Given the description of an element on the screen output the (x, y) to click on. 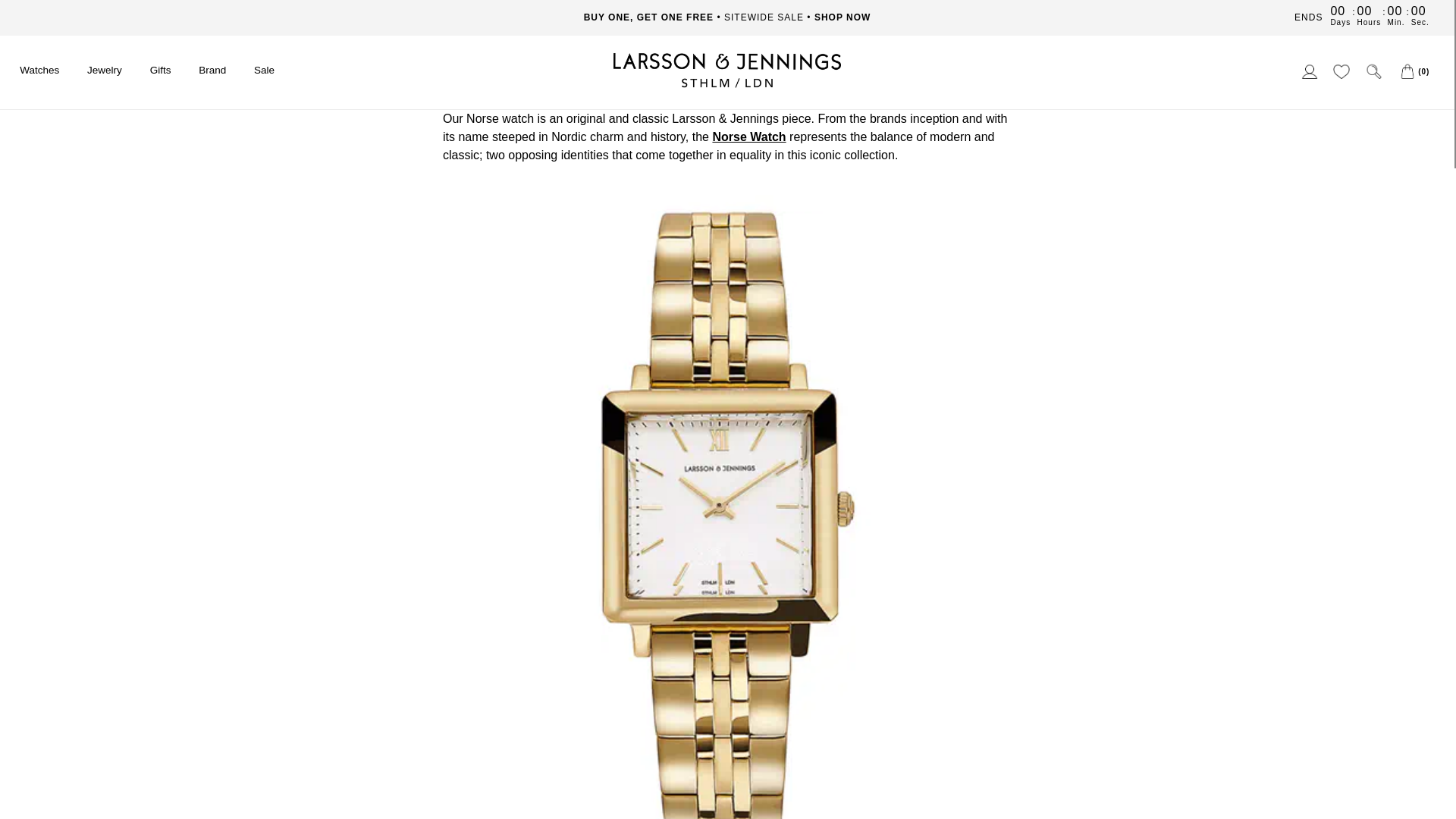
Jewelry (104, 70)
Watches (39, 70)
SEASONAL FAVORITES (726, 17)
